Given the description of an element on the screen output the (x, y) to click on. 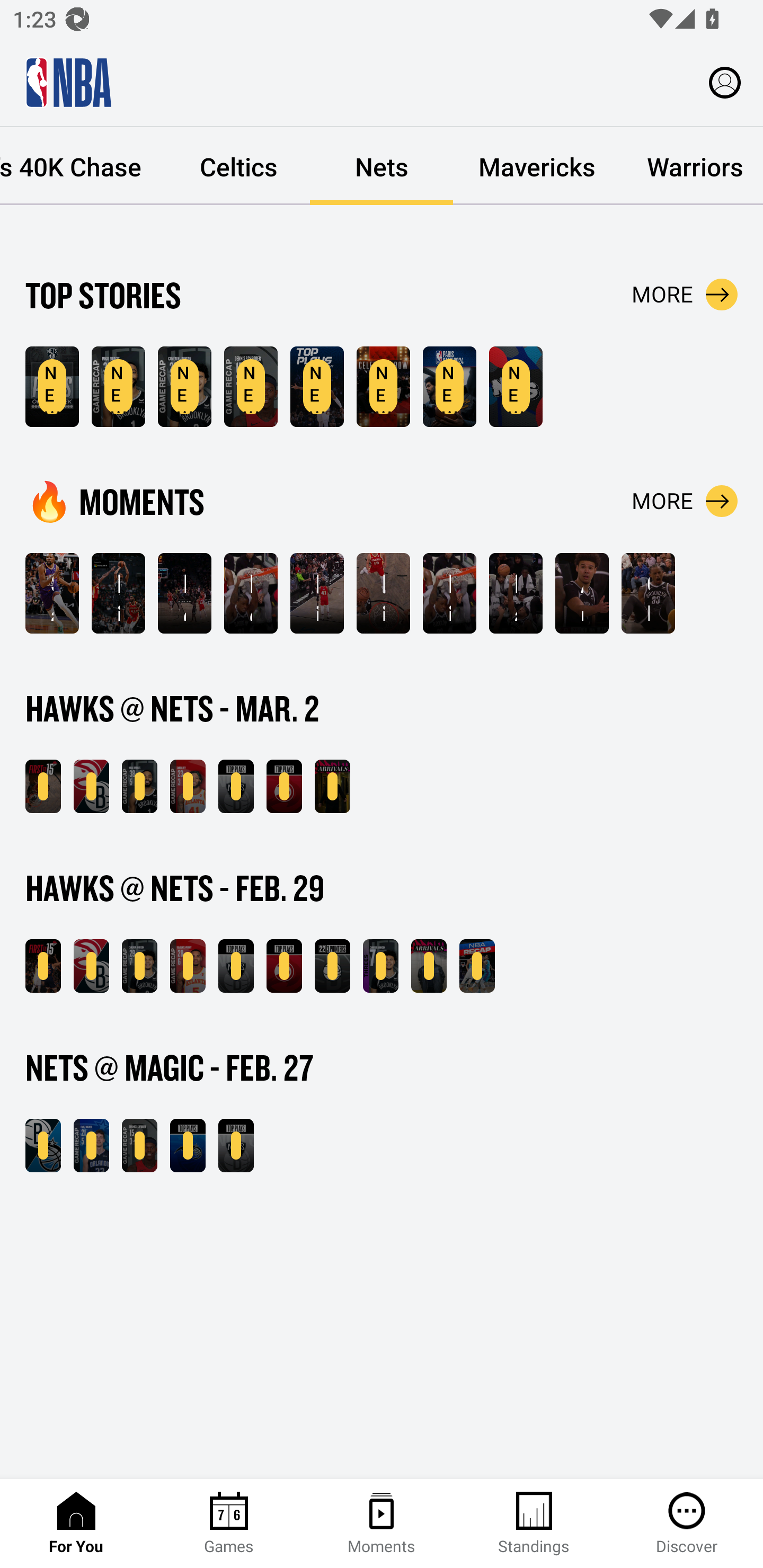
Profile (724, 81)
Celtics (238, 166)
Mavericks (537, 166)
Warriors (692, 166)
MORE (684, 294)
NEW BKN's Top Plays of Week 19 (51, 386)
NEW Highlights From Mikal Bridges' 38-Point Game (117, 386)
NEW Top Plays From Paris (317, 386)
The Stars Were Out In Paris ⭐ NEW (383, 386)
Cavs And Nets Visit The Eiffel Tower 📷 NEW (449, 386)
Nets' 2023-24 City Edition Jerseys NEW (515, 386)
MORE (684, 500)
Saturday's Top Plays In 30 Seconds ⏱ (51, 593)
Dennis Schroder gets the 3 to fall (184, 593)
Dennis Schroder with the assist (250, 593)
Mikal Bridges with the hoop & harm (317, 593)
Nicolas Claxton throws it down (383, 593)
Nicolas Claxton rises to finish the alley-oop (449, 593)
Day'Ron Sharpe with the swat (515, 593)
And-1 for Cameron Johnson! (581, 593)
Claxton Rises Up For The Block ❌ (648, 593)
NEW First To 15 Mar. 2nd (43, 785)
NEW BKN 114, ATL 102 - Mar 2 (91, 785)
NEW Highlights From Mikal Bridges' 38-Point Game (139, 785)
NEW Highlights From Saddiq Bey's 23-Point Game (187, 785)
NEW BKN's Top Plays from ATL vs. BKN (236, 785)
ATL's Top Plays from ATL vs. BKN NEW (284, 785)
Saturday's Arrivals 🔥 NEW (332, 785)
NEW First To 15: Feb. 29th (43, 965)
NEW BKN 124, ATL 97 - Feb 29 (91, 965)
NEW BKN's Top Plays from ATL vs. BKN (236, 965)
ATL's Top Plays from ATL vs. BKN NEW (284, 965)
All 3's from BKN's 22 3-Pointer Night NEW (332, 965)
Thursday Night's Arrivals 🔥 NEW (428, 965)
Thursday's Recap NEW (477, 965)
NEW ORL 108, BKN 81 - Feb 27 (43, 1145)
NEW Highlights From Franz Wagner's 21-Point Game (91, 1145)
NEW ORL's Top Plays from BKN vs. ORL (187, 1145)
NEW BKN's Top Plays from BKN vs. ORL (236, 1145)
Games (228, 1523)
Moments (381, 1523)
Standings (533, 1523)
Discover (686, 1523)
